Given the description of an element on the screen output the (x, y) to click on. 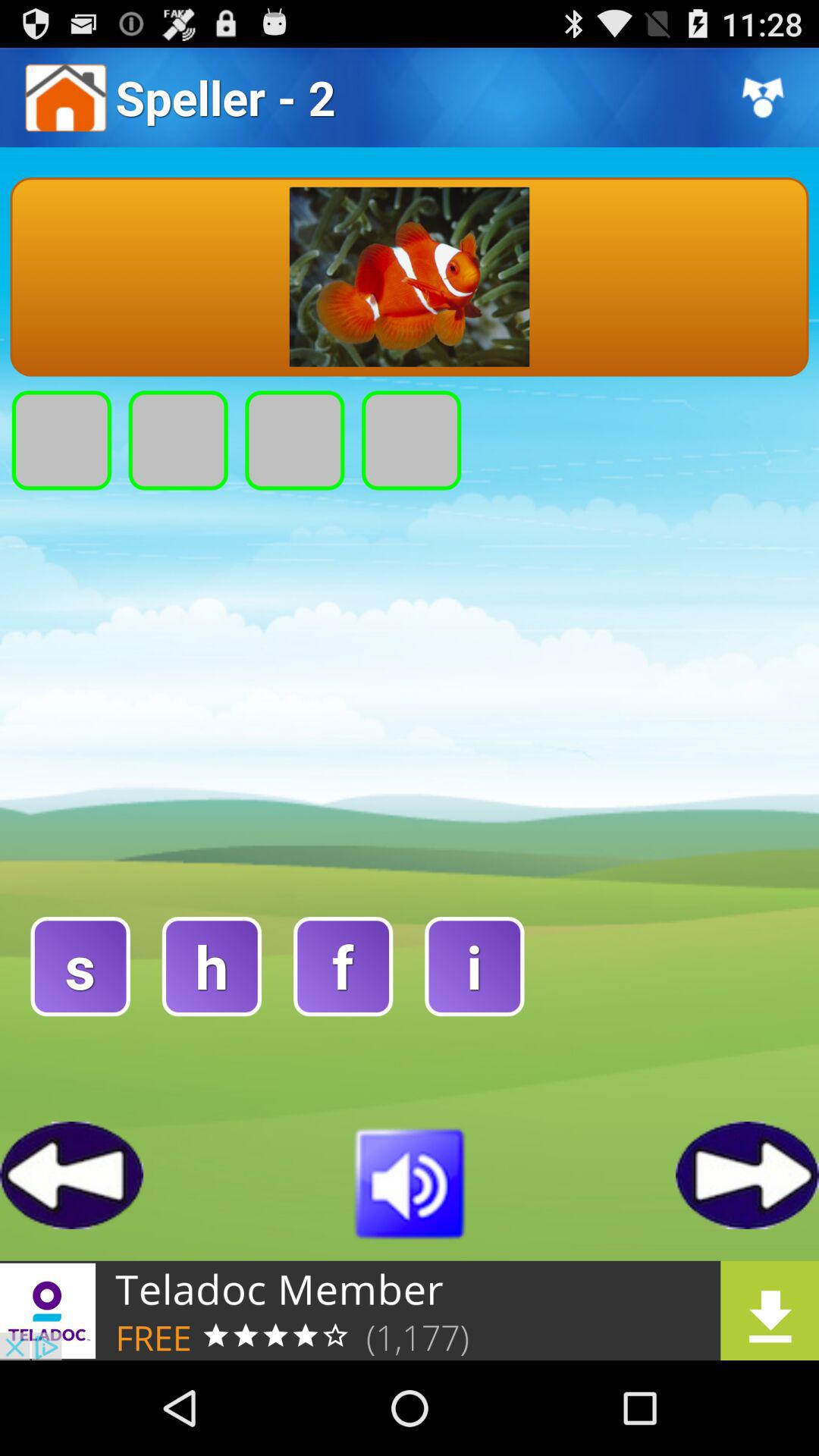
enter the download (409, 1310)
